Given the description of an element on the screen output the (x, y) to click on. 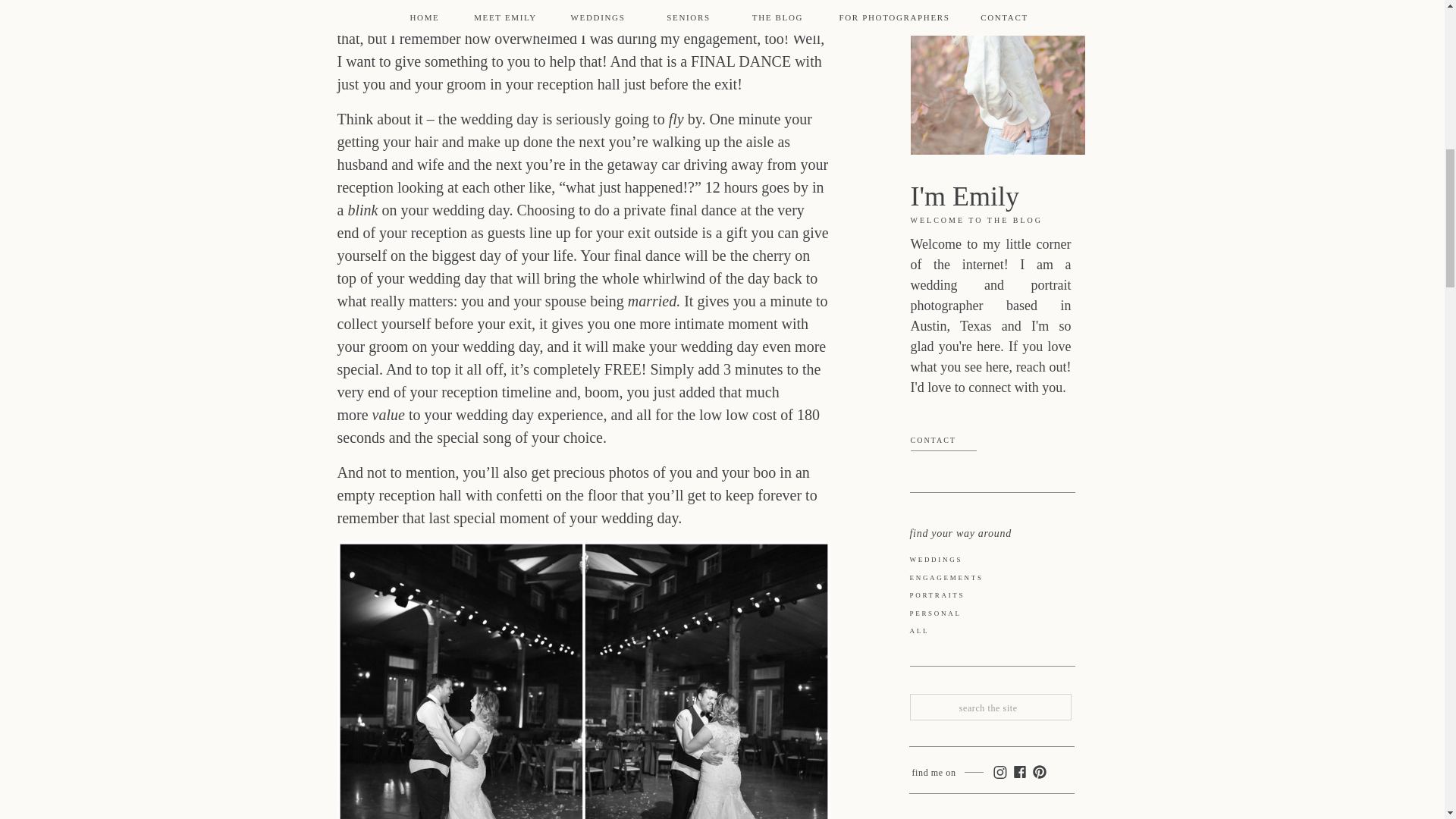
Instagram-color Created with Sketch. (998, 771)
WEDDINGS (987, 561)
Facebook Copy-color Created with Sketch. (1019, 771)
ALL (990, 632)
Facebook Copy-color Created with Sketch. (1019, 771)
PERSONAL (990, 614)
Instagram-color Created with Sketch. (998, 771)
ENGAGEMENTS (996, 579)
PORTRAITS (995, 596)
CONTACT (955, 444)
